Given the description of an element on the screen output the (x, y) to click on. 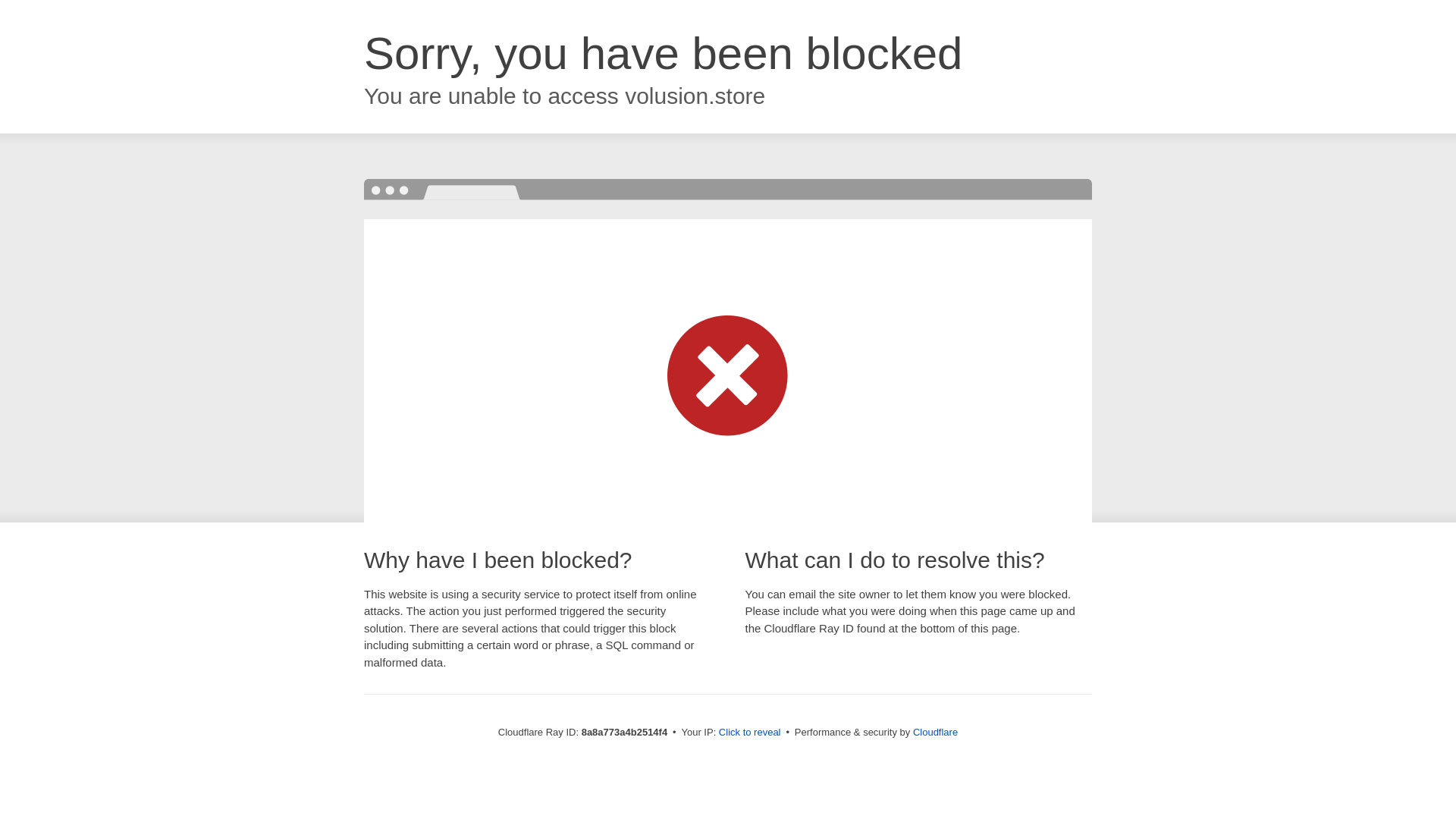
Click to reveal (749, 732)
Cloudflare (935, 731)
